Given the description of an element on the screen output the (x, y) to click on. 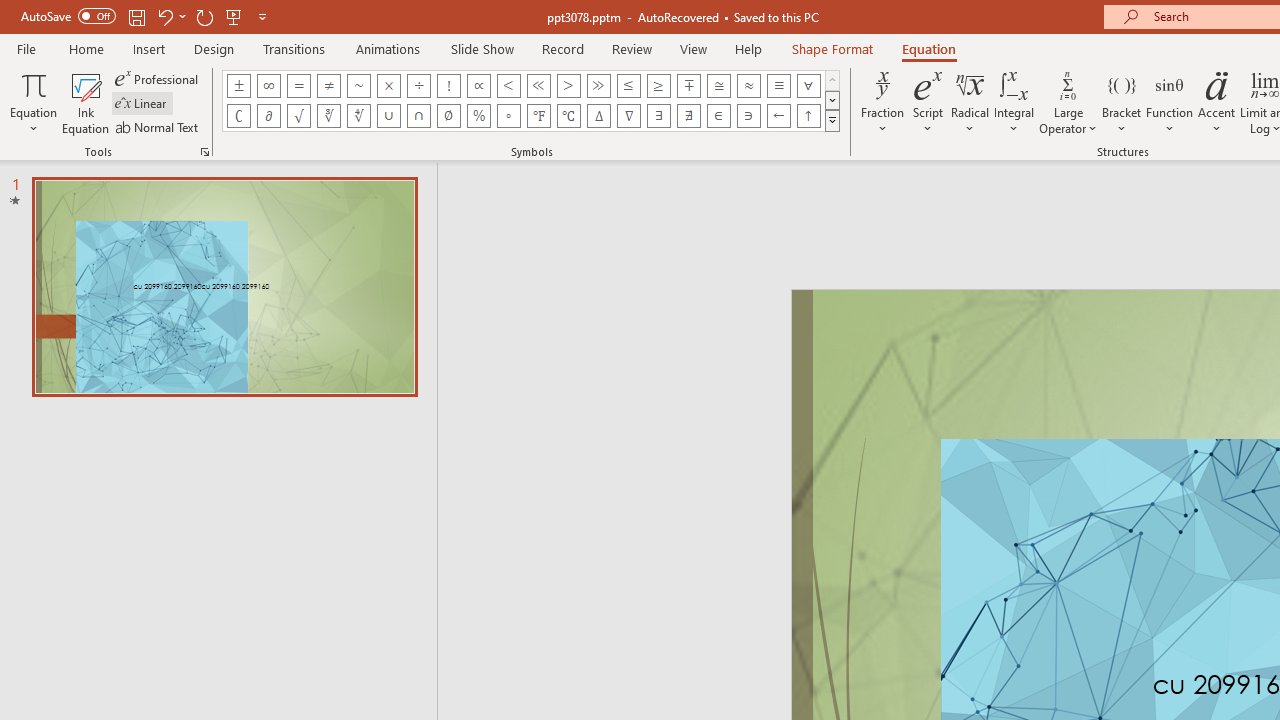
Equation Symbol Empty Set (448, 115)
Equation Symbol Nabla (628, 115)
Equation Symbol Percentage (478, 115)
Equation Symbol Left Arrow (778, 115)
Equation Symbol Plus Minus (238, 85)
Equation Symbol Approximately (358, 85)
Equation Symbol Element Of (718, 115)
Normal Text (158, 126)
Equation Symbol Almost Equal To (Asymptotic To) (748, 85)
Equation Symbol Proportional To (478, 85)
